Given the description of an element on the screen output the (x, y) to click on. 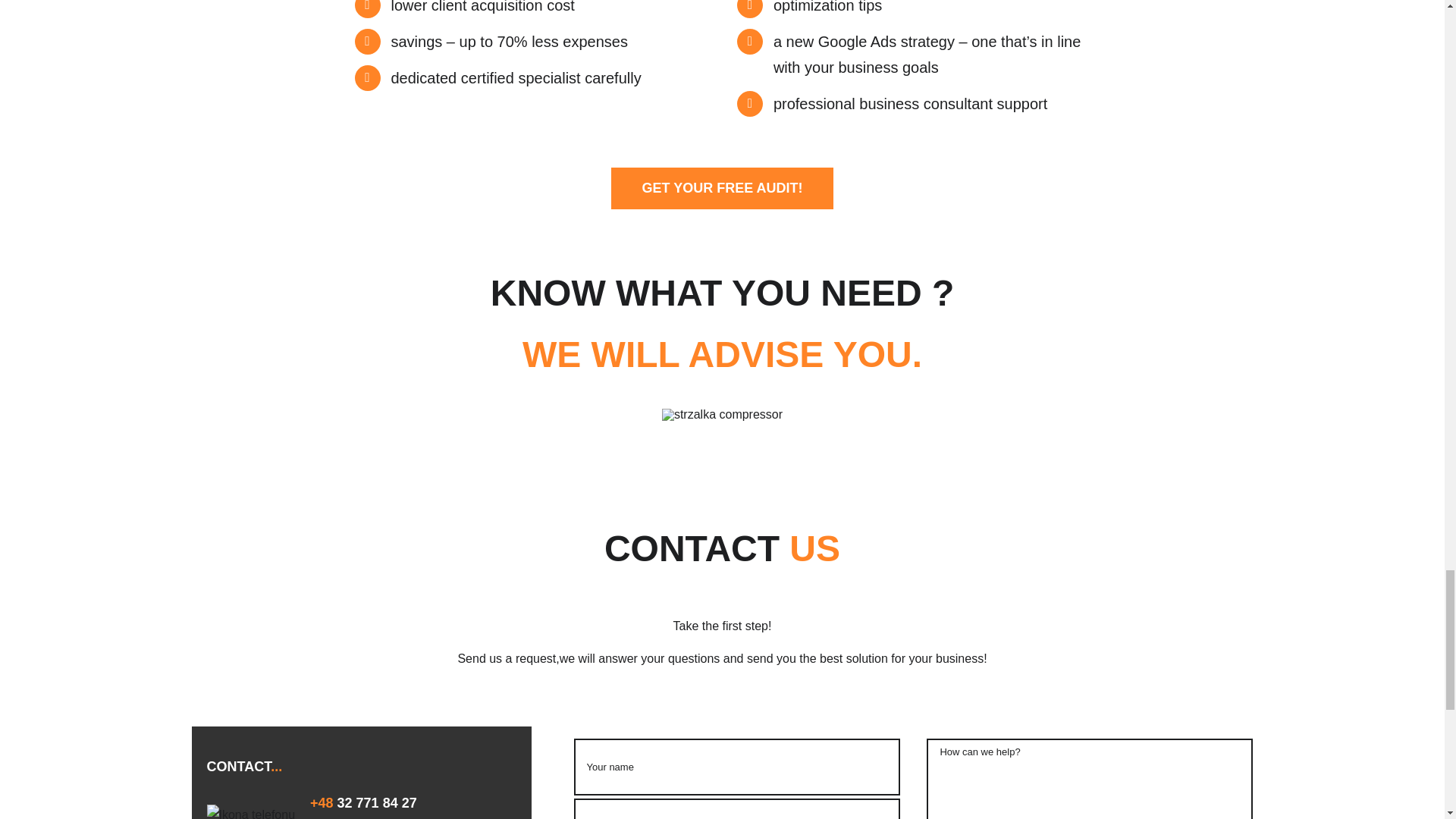
GET YOUR FREE AUDIT! (721, 188)
